Given the description of an element on the screen output the (x, y) to click on. 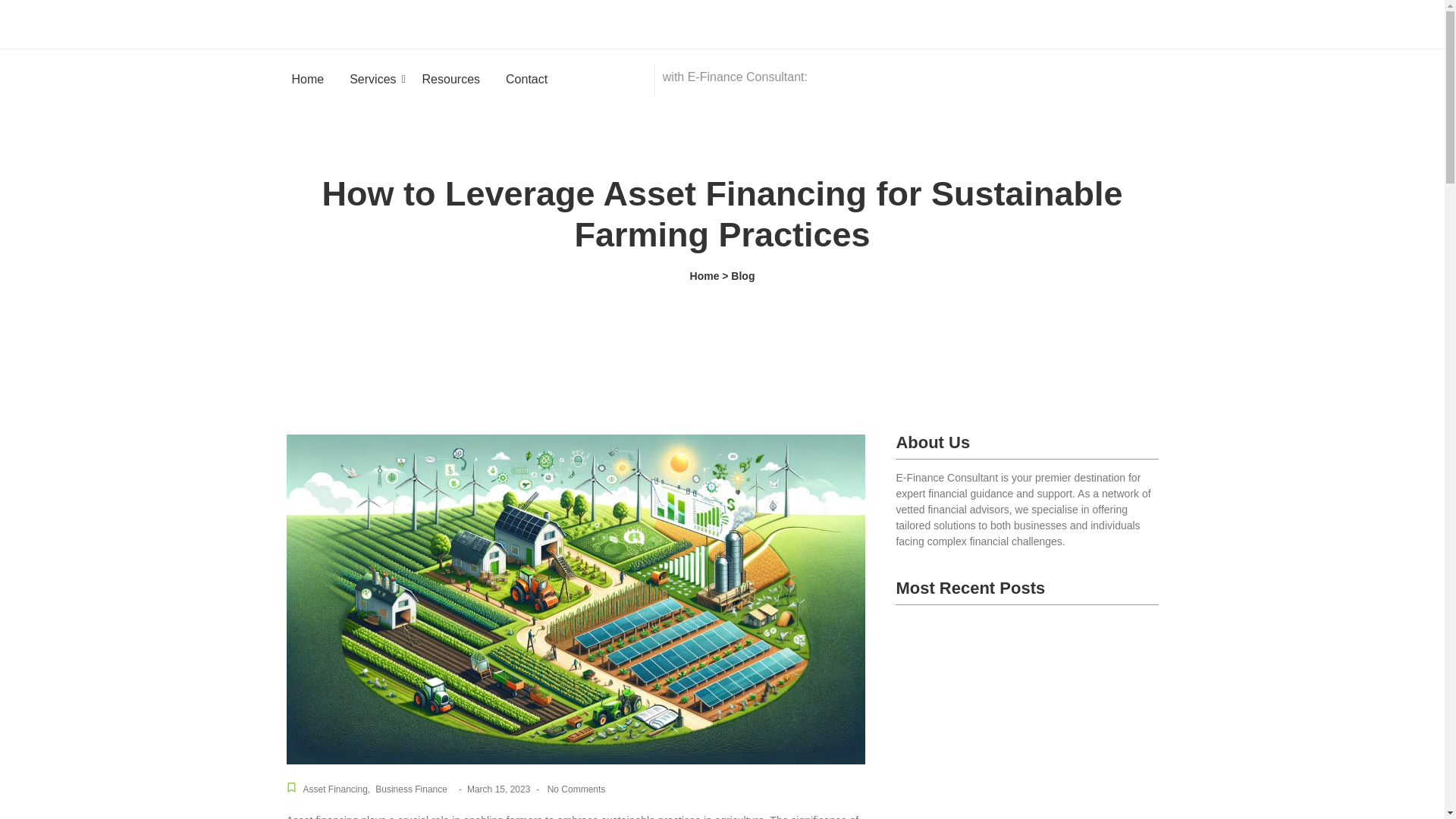
Home (308, 79)
Asset Financing, (336, 789)
Resources (450, 79)
No Comments (574, 788)
Services (372, 79)
Contact (526, 79)
Business Finance (410, 789)
